Given the description of an element on the screen output the (x, y) to click on. 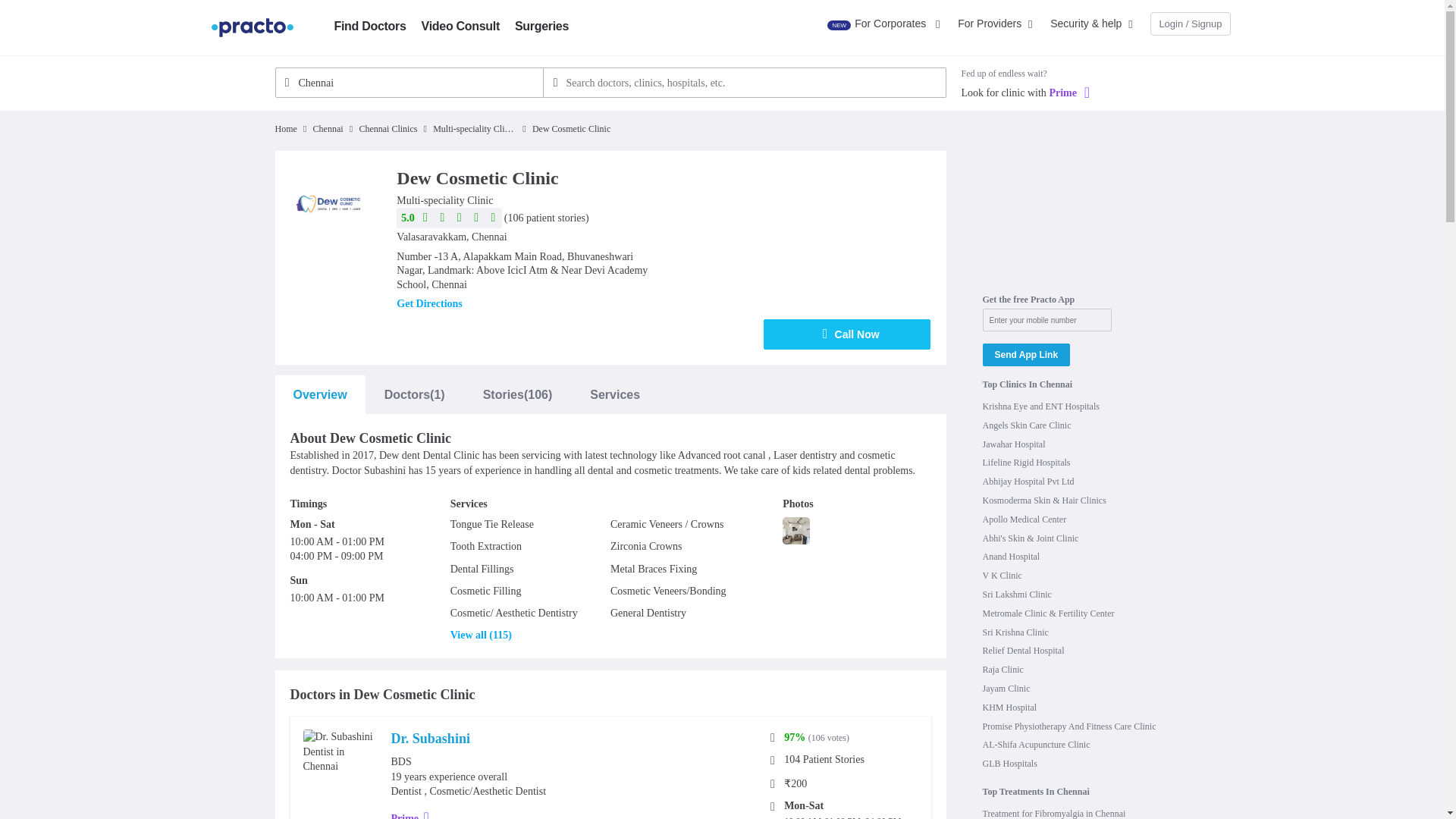
Multi-speciality Clinics (474, 128)
Video Consult (460, 26)
Metal Braces Fixing (653, 568)
Get Directions (428, 304)
Chennai (409, 82)
Dental Fillings (481, 568)
Chennai Clinics (387, 128)
Chennai (328, 128)
Overview (319, 394)
5 (449, 218)
